Given the description of an element on the screen output the (x, y) to click on. 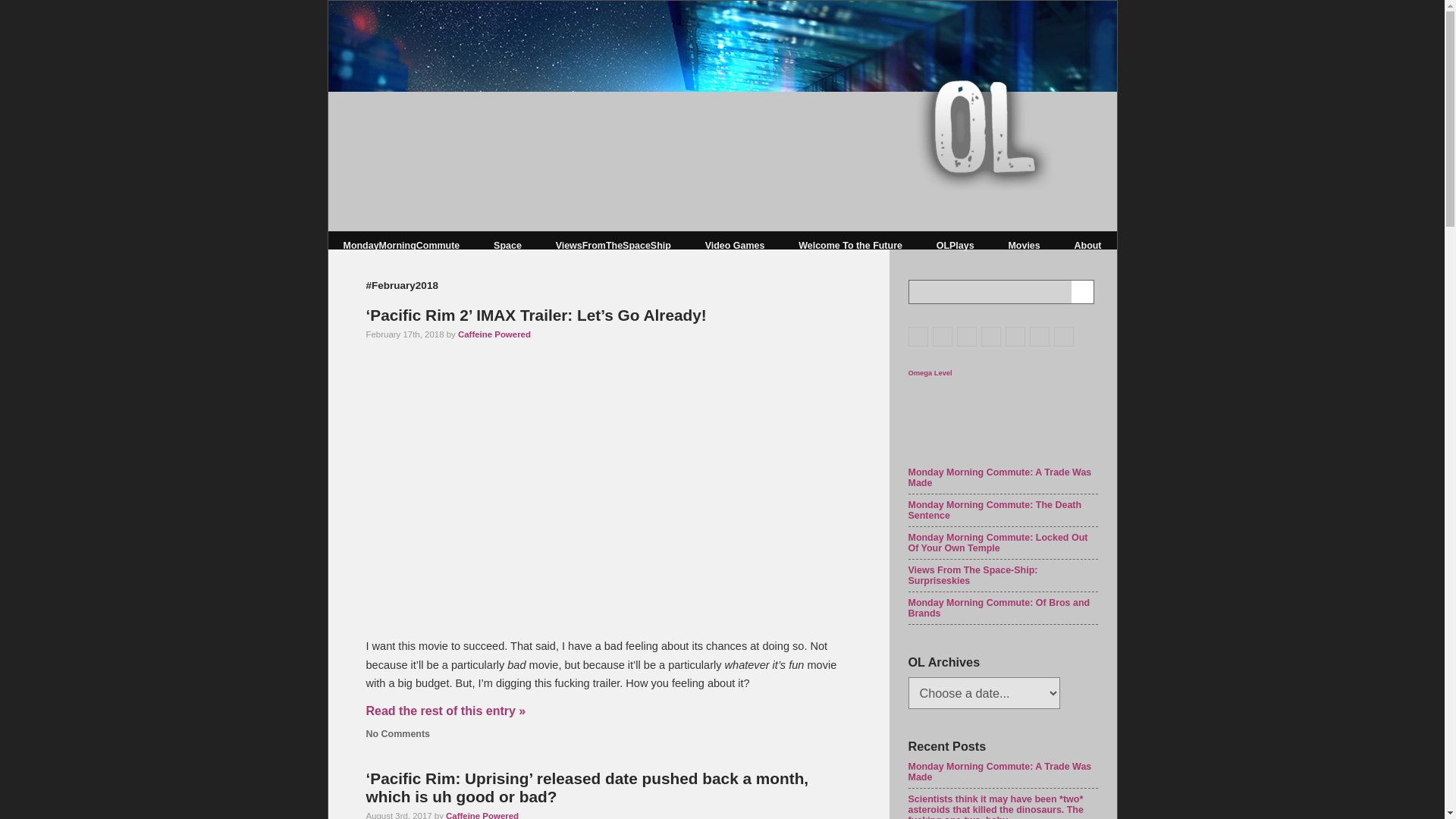
Monday Morning Commute: The Death Sentence (994, 509)
Monday Morning Commute: A Trade Was Made (1000, 771)
ViewsFromTheSpaceShip (613, 245)
Movies (1023, 245)
Welcome To the Future (849, 245)
Monday Morning Commute: A Trade Was Made (1000, 477)
Views From The Space-Ship: Surpriseskies (973, 575)
Video Games (734, 245)
About (1088, 245)
No Comments (397, 733)
